Given the description of an element on the screen output the (x, y) to click on. 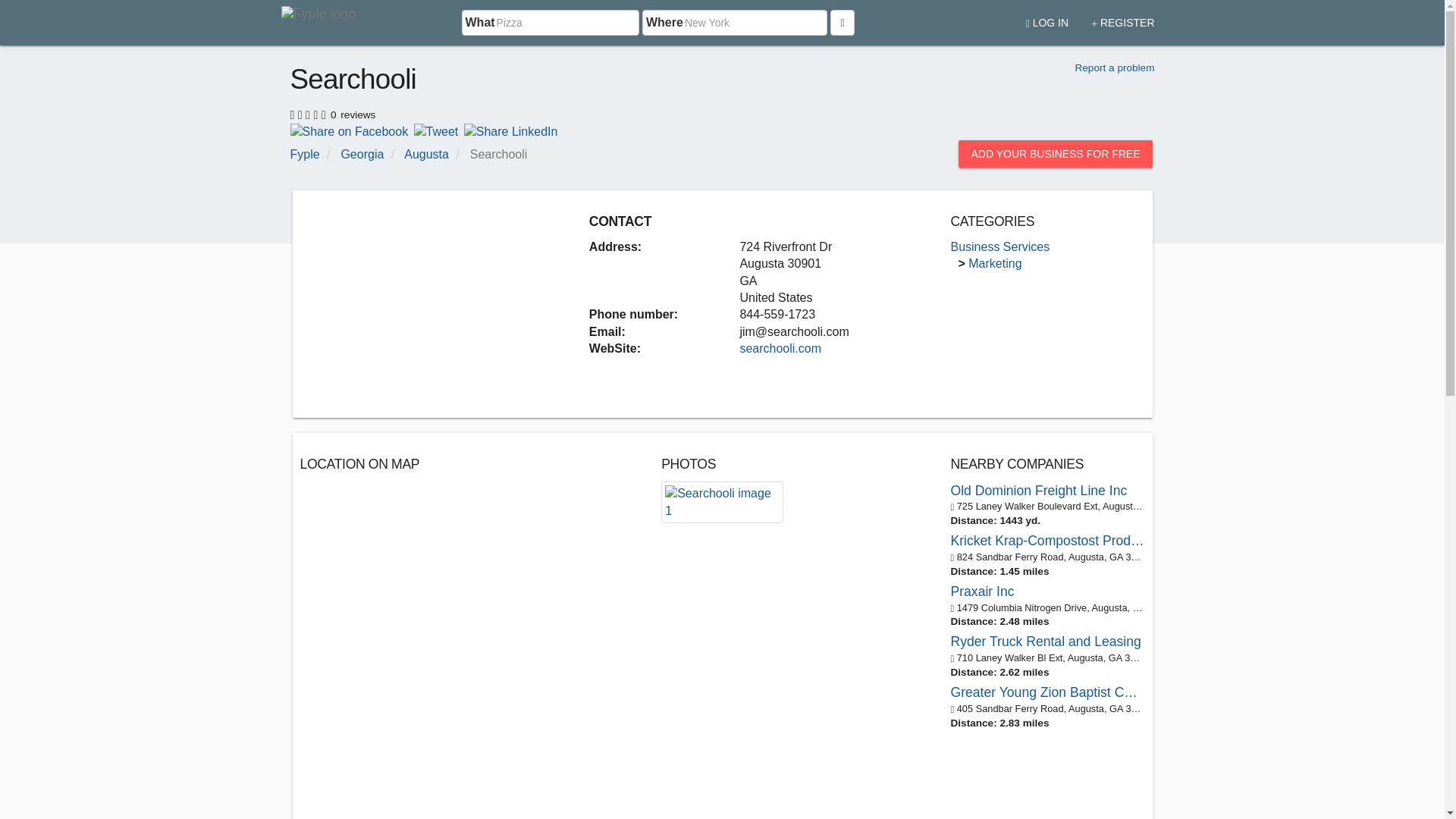
Home page (320, 22)
Tweet (435, 130)
Share on Facebook (348, 130)
Kricket Krap-Compostost Products (1047, 540)
Greater Young Zion Baptist Church (1047, 692)
REGISTER (1123, 17)
Georgia (362, 154)
0.00 (309, 112)
Old Dominion Freight Line Inc (1047, 490)
Business Services (999, 246)
Ryder Truck Rental and Leasing (1047, 641)
searchooli.com (780, 348)
Report a problem (1114, 67)
Share on LinkedIn (510, 130)
Augusta (426, 154)
